Given the description of an element on the screen output the (x, y) to click on. 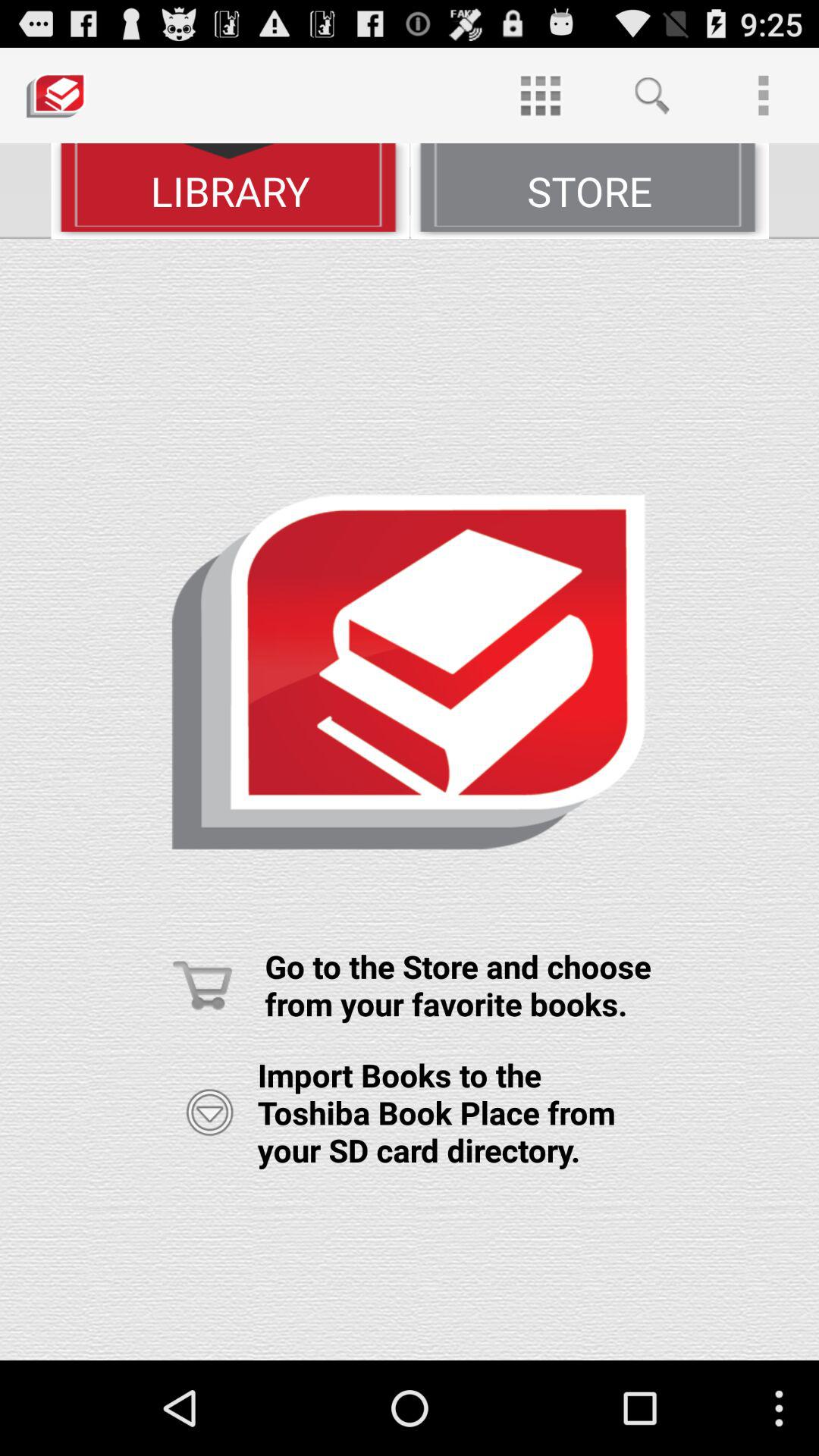
choose app above store app (651, 95)
